Given the description of an element on the screen output the (x, y) to click on. 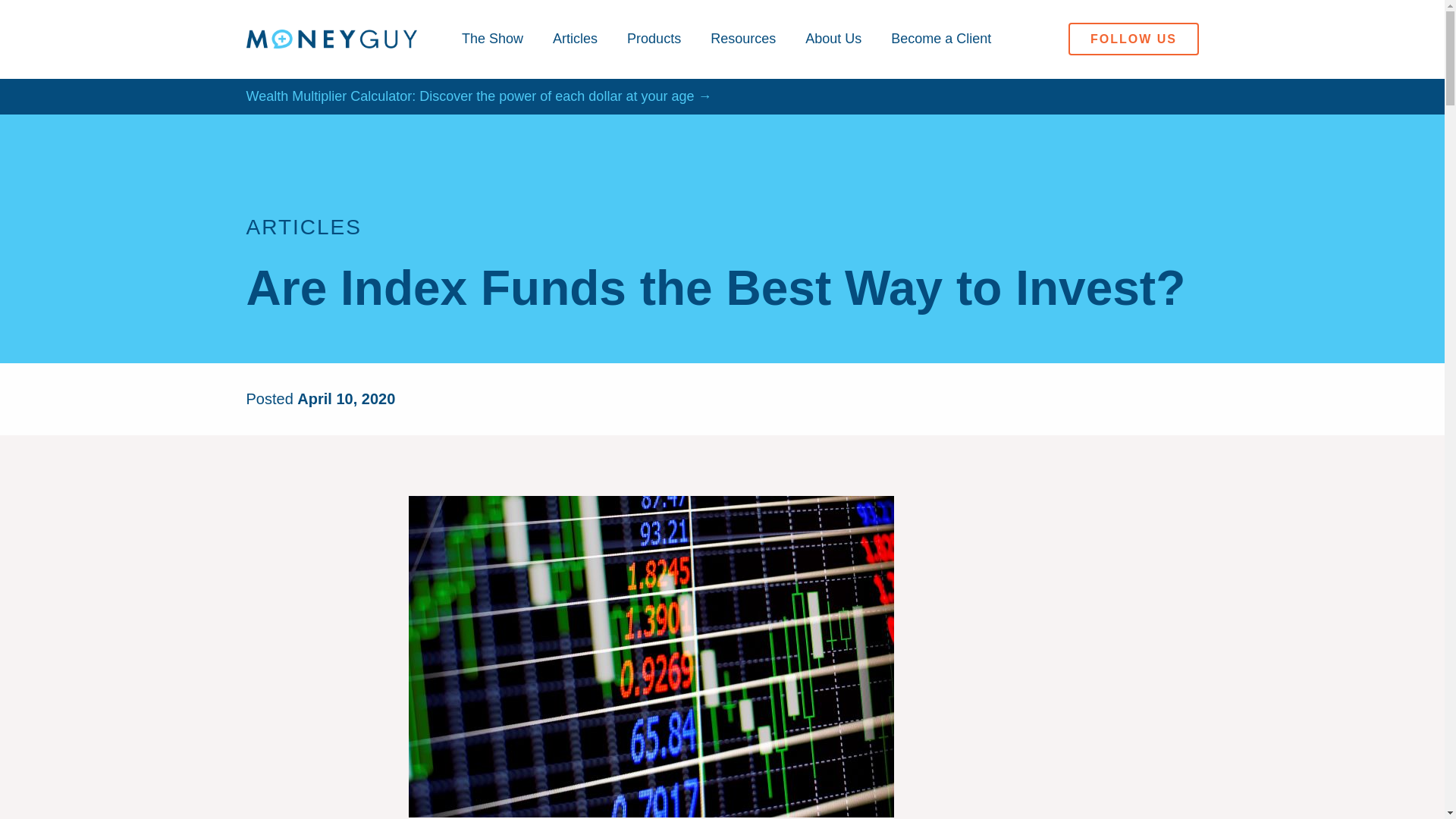
The Show (492, 39)
FOLLOW US (1133, 38)
Resources (743, 39)
About Us (833, 39)
Become a Client (940, 39)
